Given the description of an element on the screen output the (x, y) to click on. 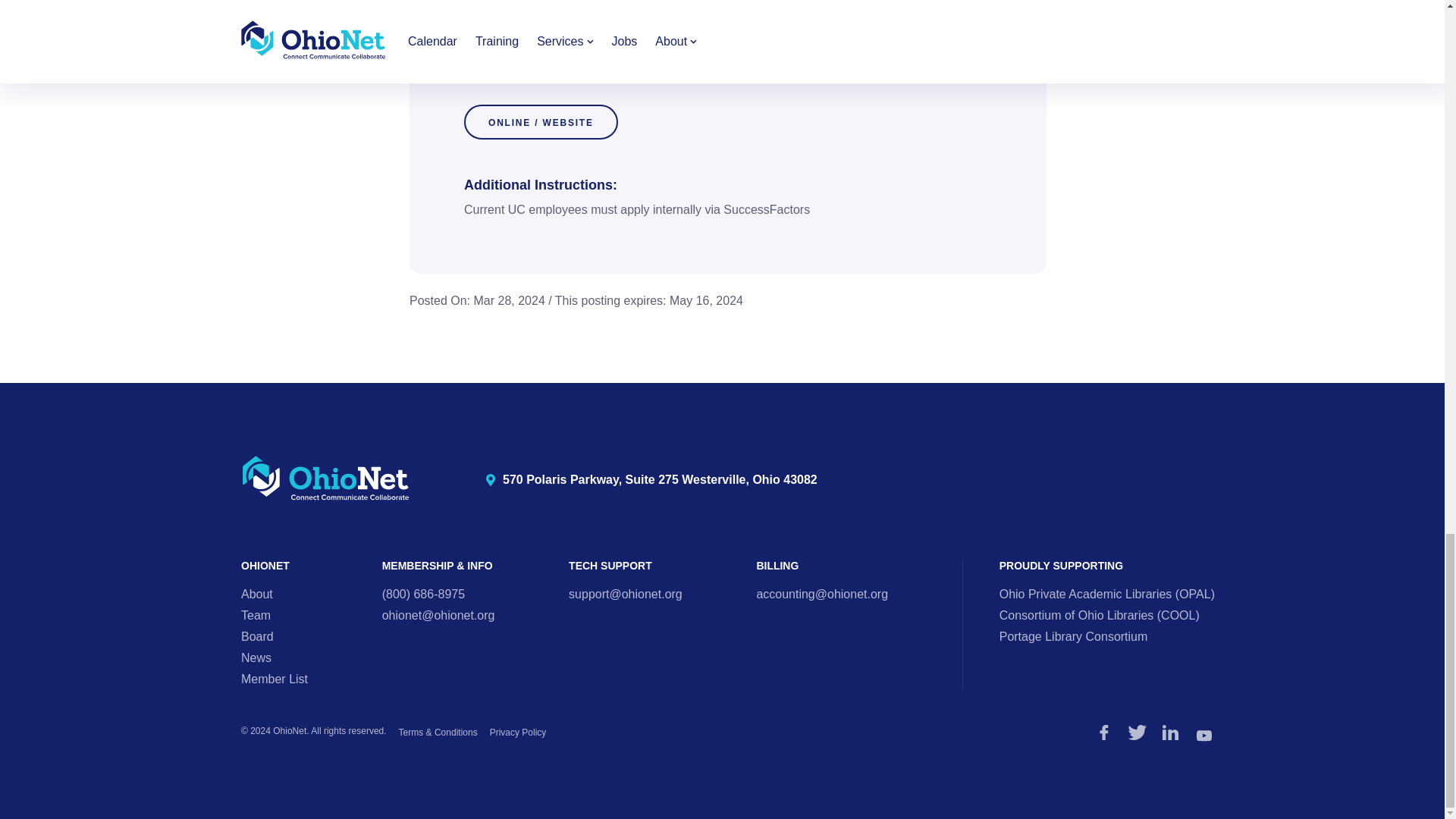
Facebook (1104, 732)
Member List (274, 678)
LinkedIn (1170, 732)
OhioNET - Connect, Communicate, Collaborate. (326, 479)
Team (255, 615)
About (257, 594)
YouTube (1203, 735)
Board (257, 635)
OhioNET - Connect, Communicate, Collaborate. (326, 478)
